Given the description of an element on the screen output the (x, y) to click on. 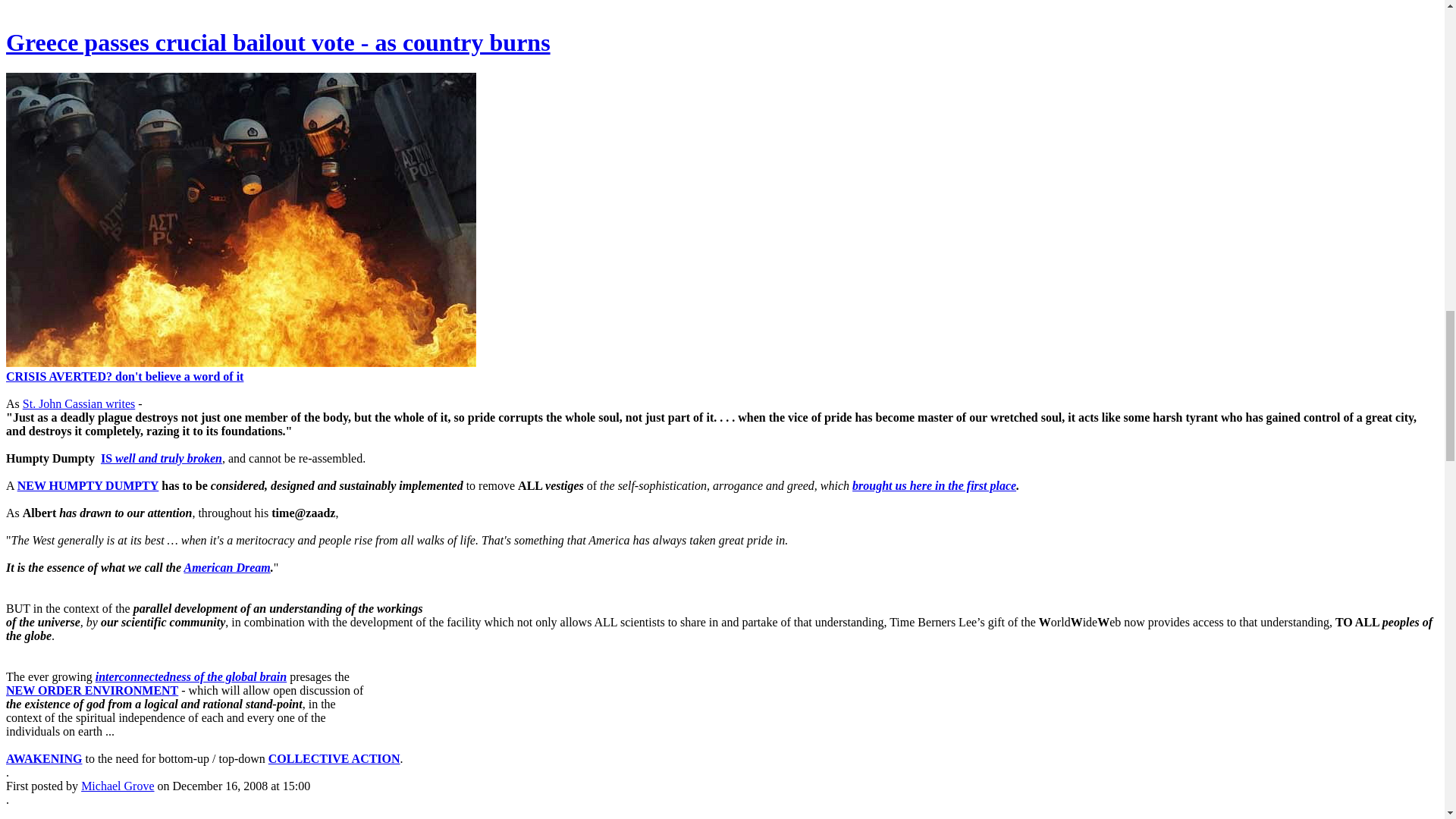
Greece passes crucial bailout vote - as country burns (277, 42)
CRISIS AVERTED? don't believe a word of it (124, 376)
St. John Cassian writes (79, 403)
